Given the description of an element on the screen output the (x, y) to click on. 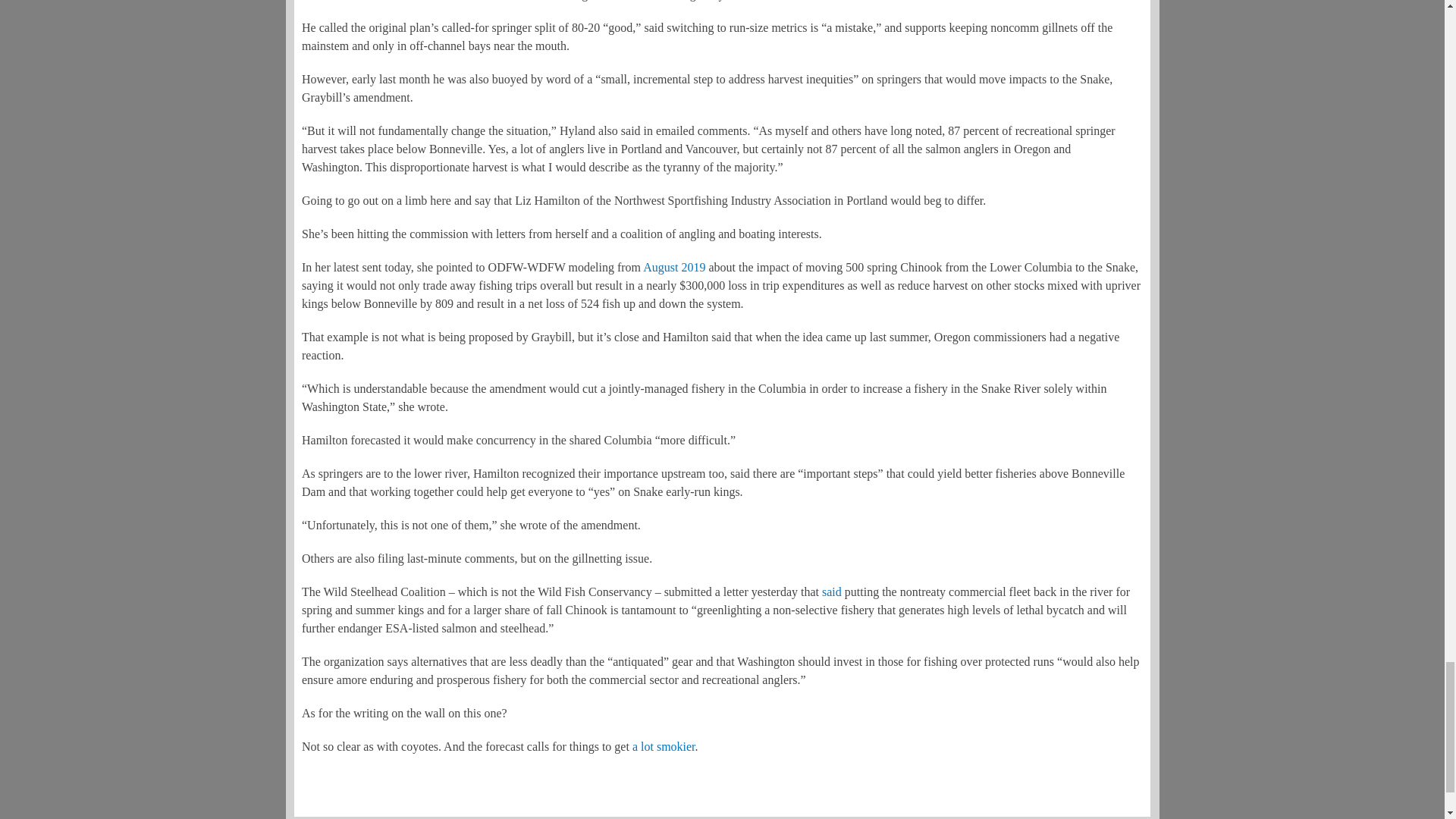
August 2019 (673, 267)
a lot smokier (663, 746)
said (831, 591)
